Given the description of an element on the screen output the (x, y) to click on. 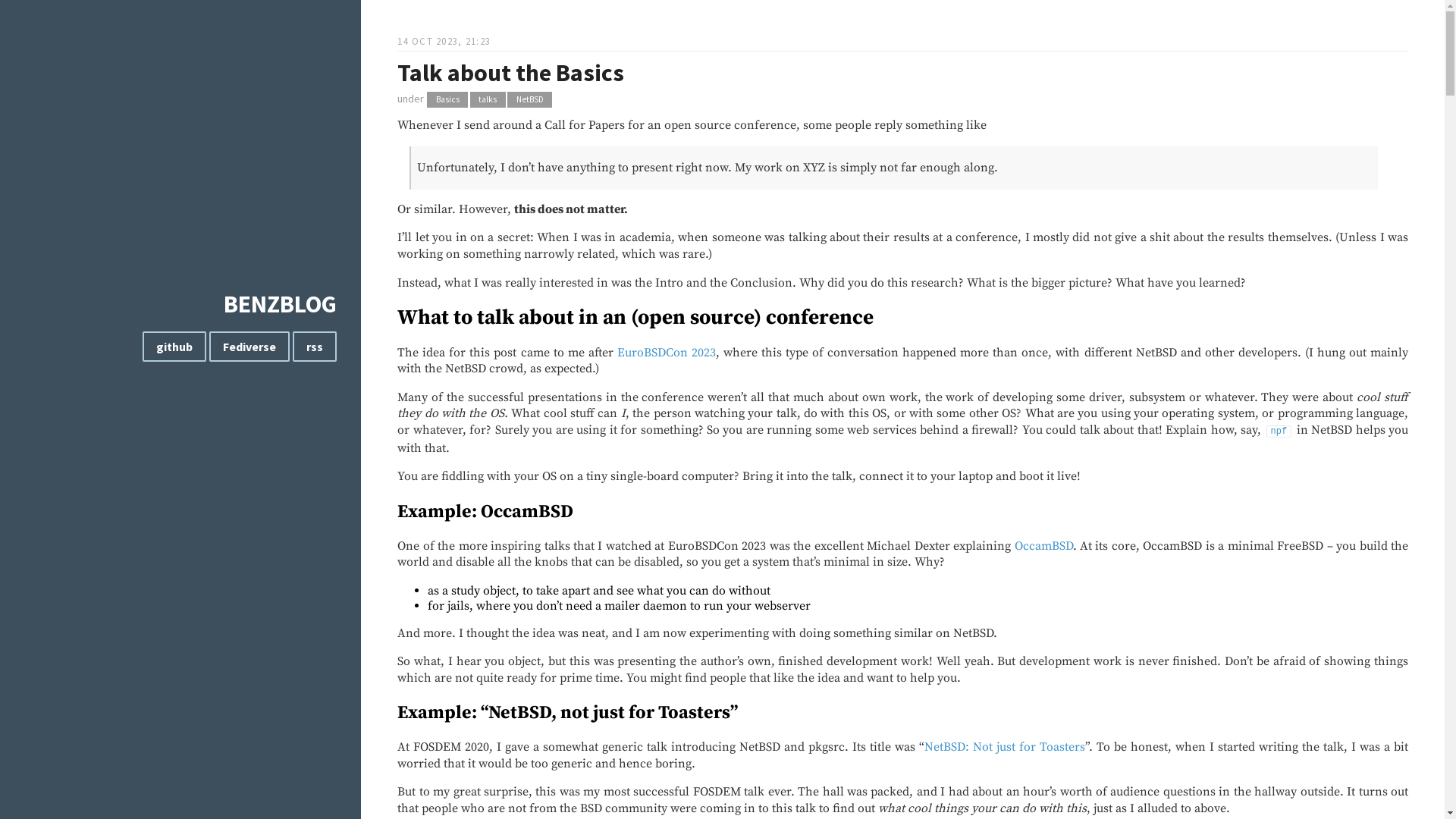
npf Element type: text (1278, 429)
NetBSD: Not just for Toasters Element type: text (1004, 746)
talks Element type: text (487, 99)
Basics Element type: text (446, 99)
rss Element type: text (314, 346)
BENZBLOG Element type: text (279, 303)
github Element type: text (174, 346)
NetBSD Element type: text (529, 99)
EuroBSDCon 2023 Element type: text (666, 352)
OccamBSD Element type: text (1043, 545)
Talk about the Basics Element type: text (510, 72)
Fediverse Element type: text (249, 346)
